Given the description of an element on the screen output the (x, y) to click on. 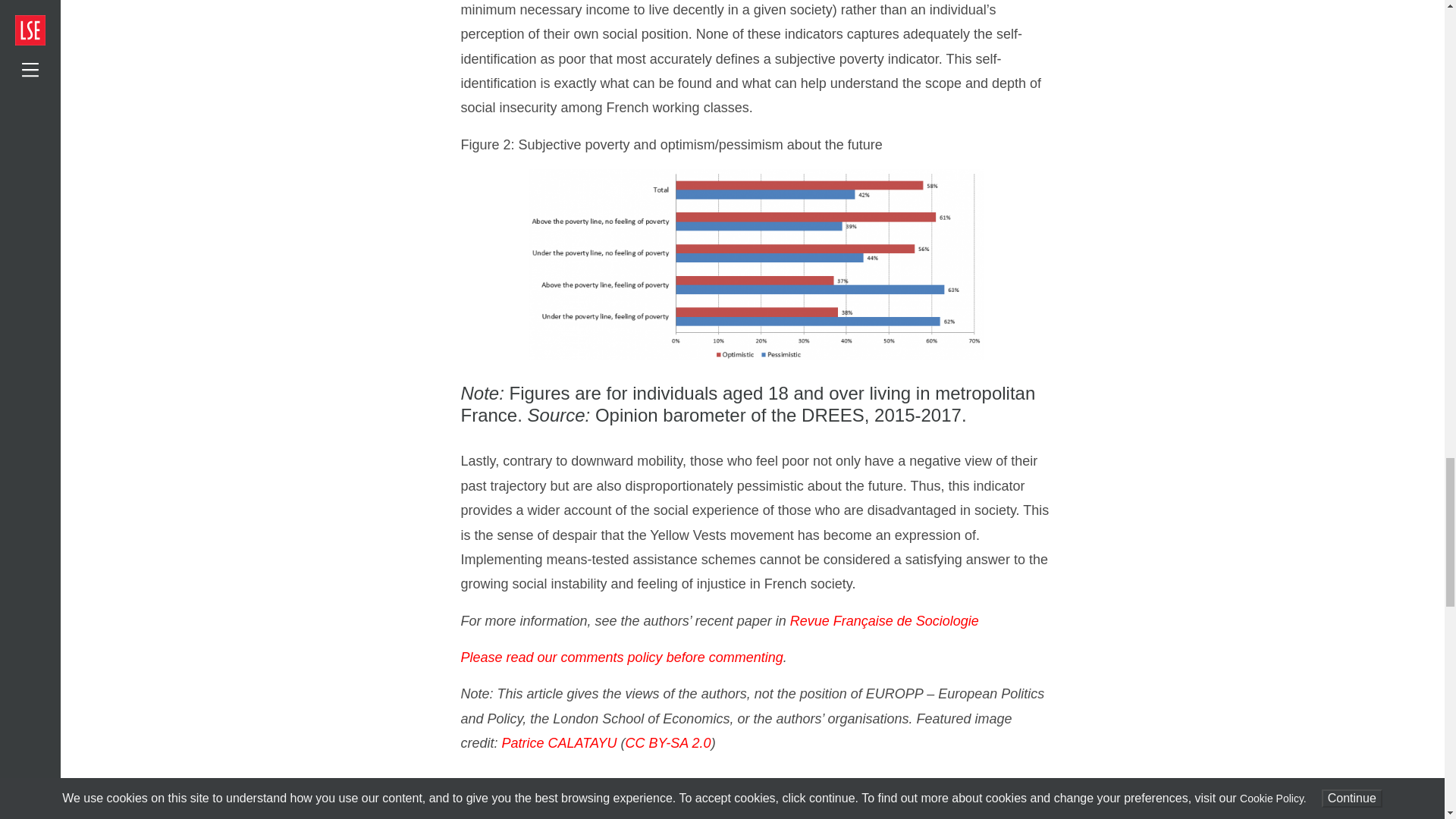
CC BY-SA 2.0 (668, 743)
Please read our comments policy before commenting (622, 657)
Patrice CALATAYU (559, 743)
